Given the description of an element on the screen output the (x, y) to click on. 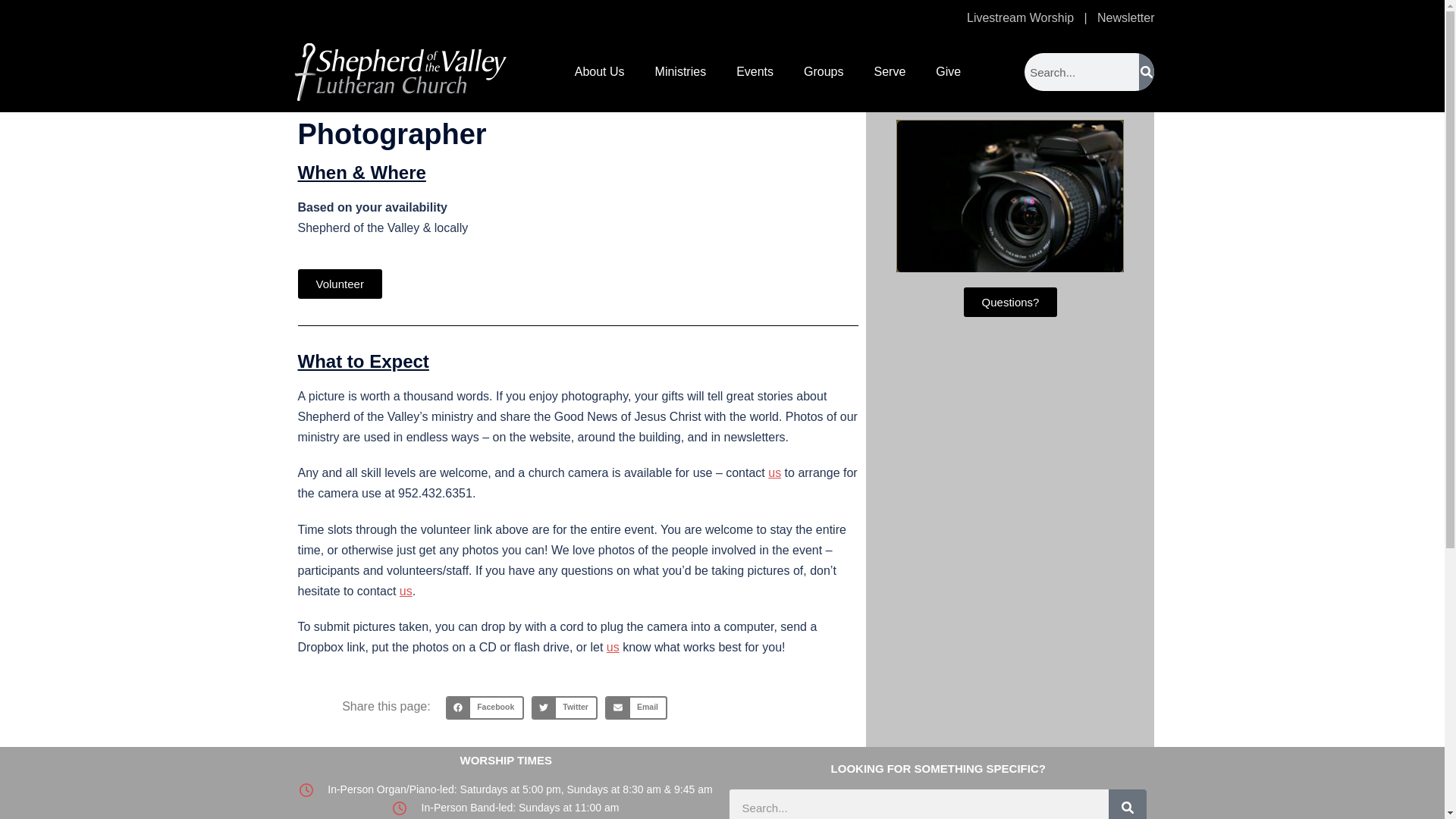
Ministries (681, 71)
us (774, 472)
Livestream Worship (1020, 17)
Volunteer (339, 283)
Newsletter (1125, 17)
us (613, 646)
photographer (1010, 195)
Groups (824, 71)
Questions? (1010, 301)
Events (754, 71)
Serve (890, 71)
About Us (599, 71)
In-Person Band-led: Sundays at 11:00 am (505, 808)
Give (947, 71)
us (405, 590)
